Given the description of an element on the screen output the (x, y) to click on. 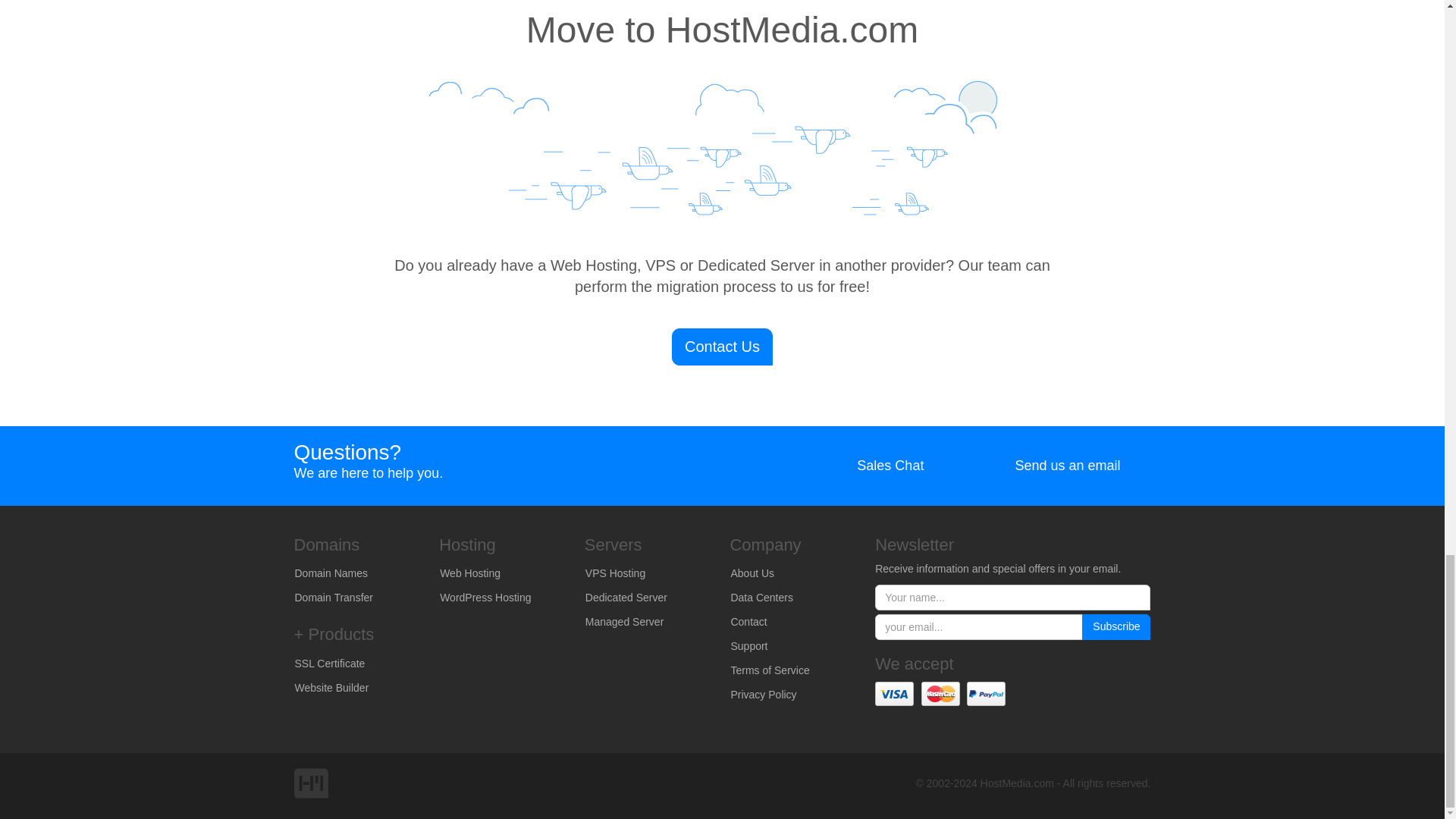
Contact Us (722, 346)
Domain Names (355, 573)
Sales Chat (874, 466)
SSL Certificate (355, 663)
Domain Transfer (355, 598)
Transfer your domain to HostMedia. (355, 598)
Send us an email (1051, 466)
Search and Register your domain today! (355, 573)
Send us an email (1051, 466)
